Given the description of an element on the screen output the (x, y) to click on. 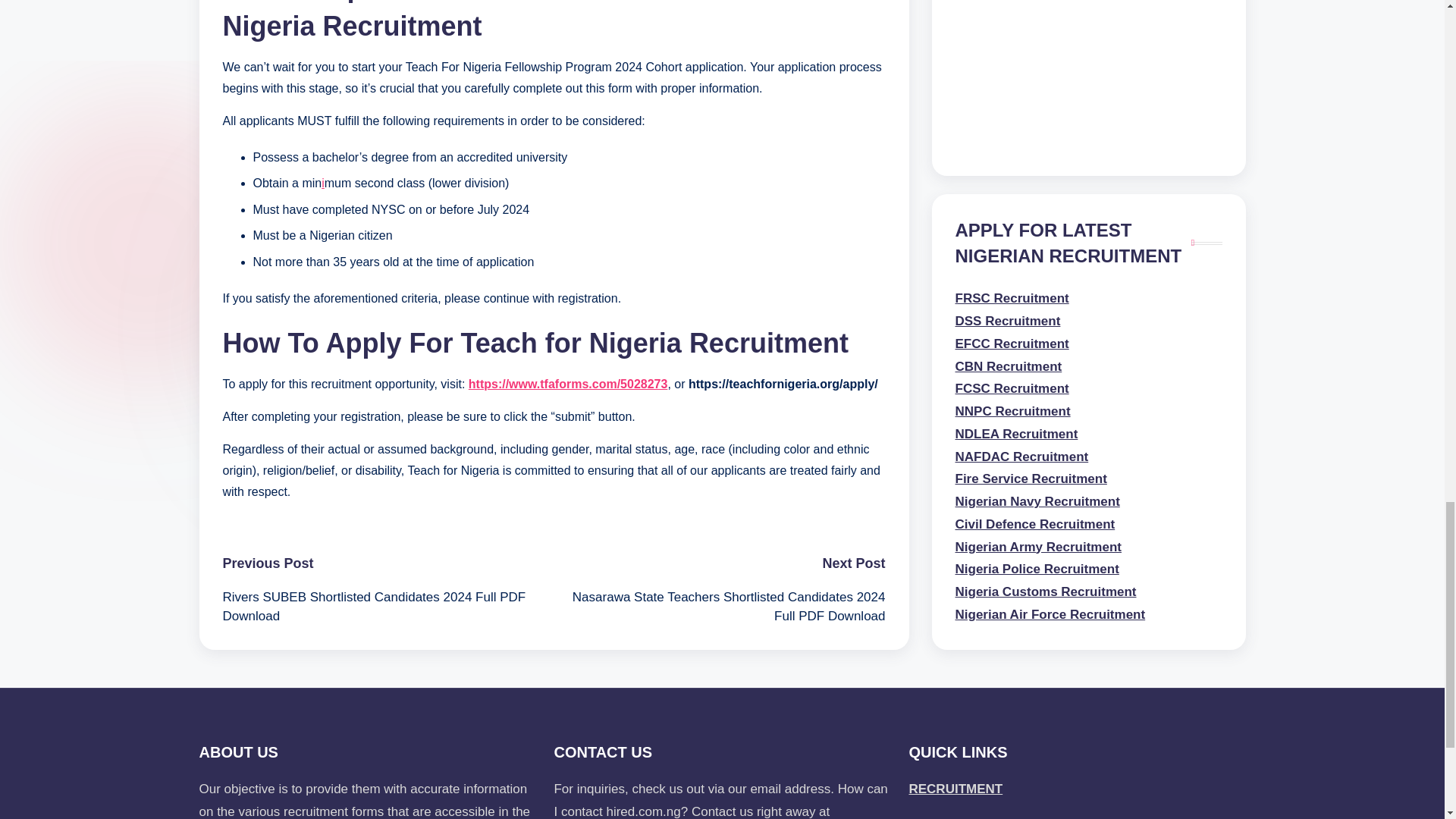
Rivers SUBEB Shortlisted Candidates 2024 Full PDF Download (388, 607)
